Given the description of an element on the screen output the (x, y) to click on. 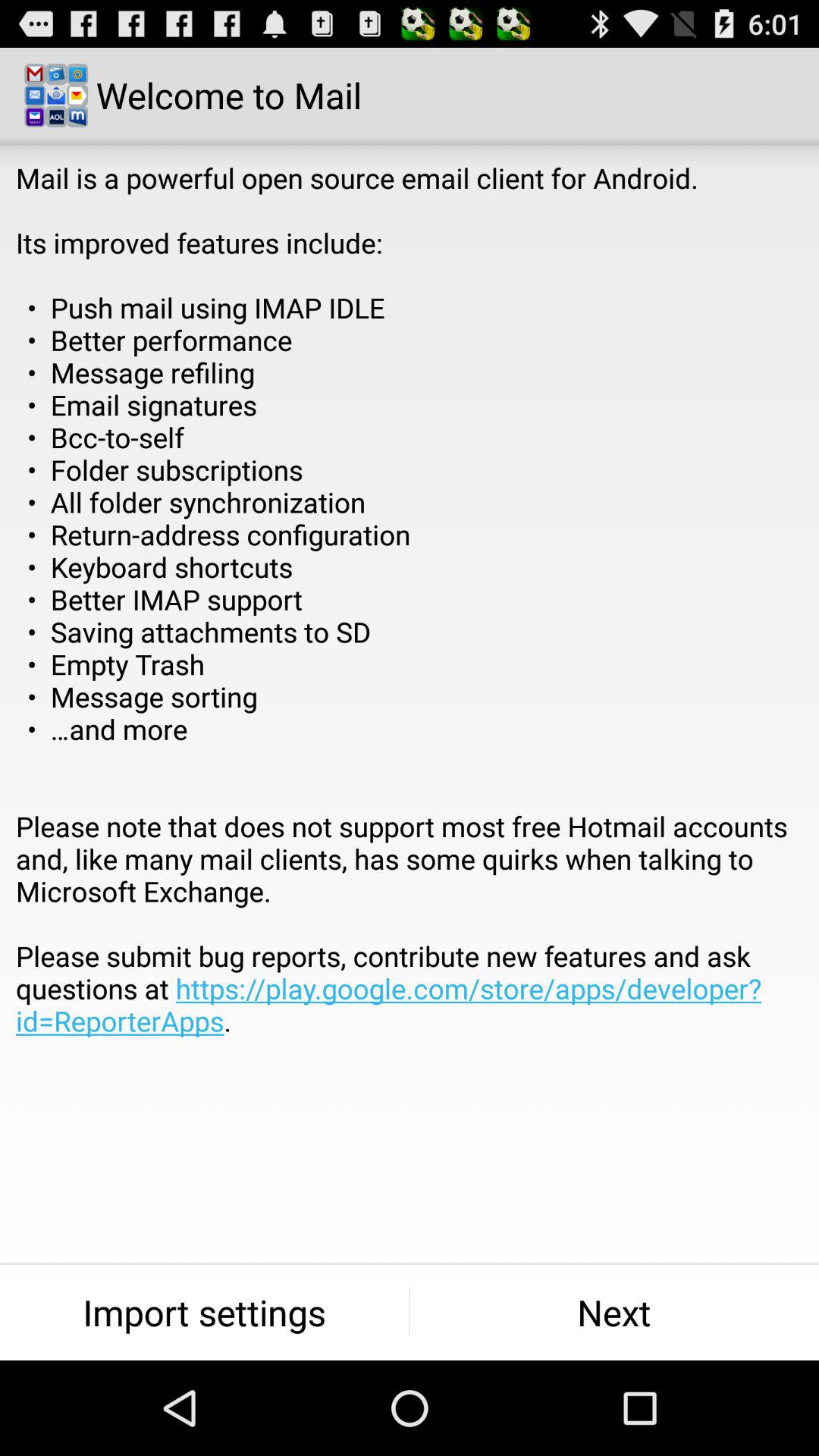
tap icon at the bottom right corner (614, 1312)
